Given the description of an element on the screen output the (x, y) to click on. 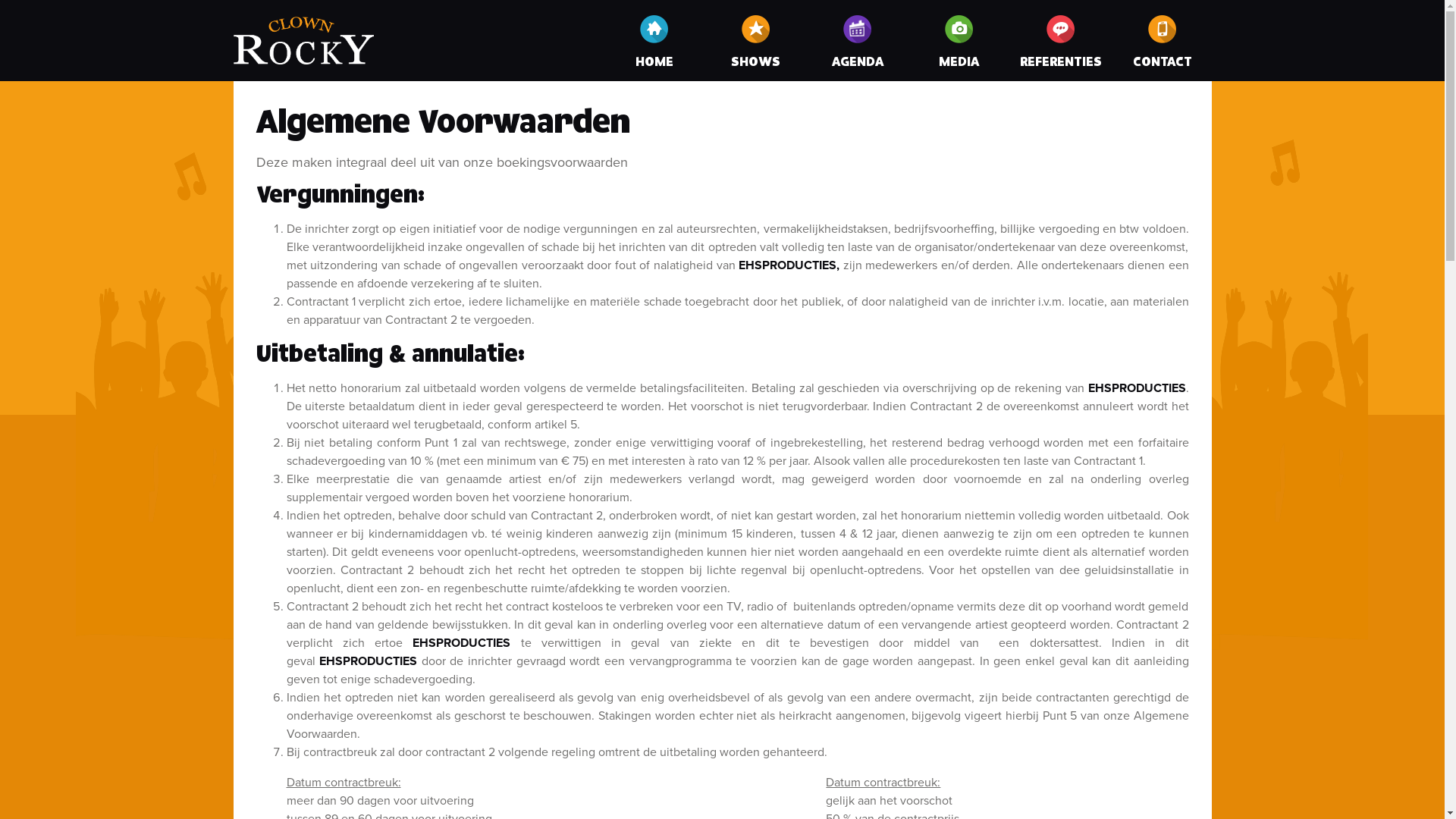
HOME Element type: text (654, 40)
MEDIA Element type: text (959, 40)
AGENDA Element type: text (857, 40)
CONTACT Element type: text (1162, 40)
SHOWS Element type: text (755, 40)
REFERENTIES Element type: text (1060, 40)
